Given the description of an element on the screen output the (x, y) to click on. 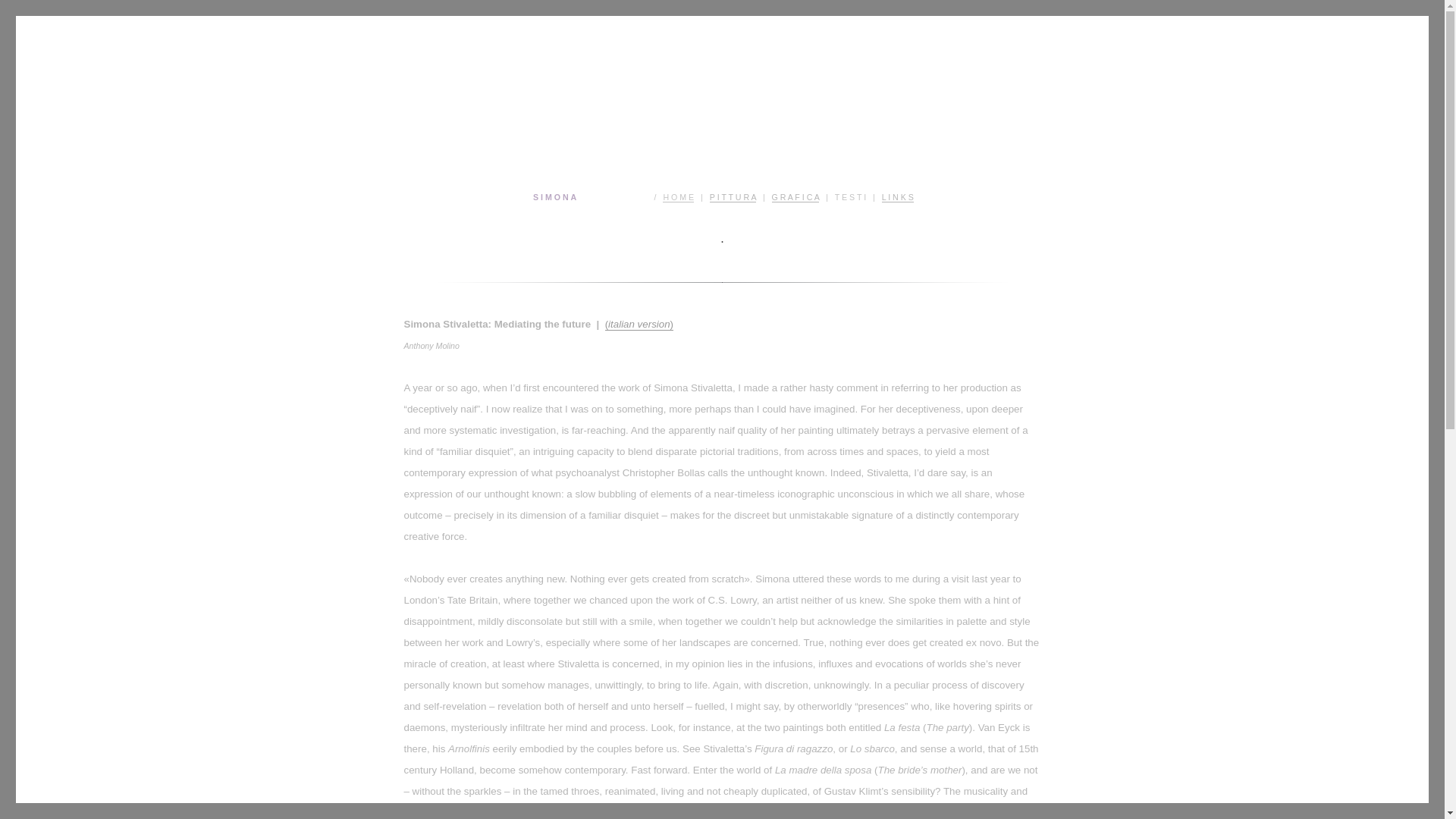
P I T T U R A (732, 196)
H O M E (678, 196)
L I N K S (898, 196)
Simona Stivaletta (355, 114)
G R A F I C A (795, 196)
